Given the description of an element on the screen output the (x, y) to click on. 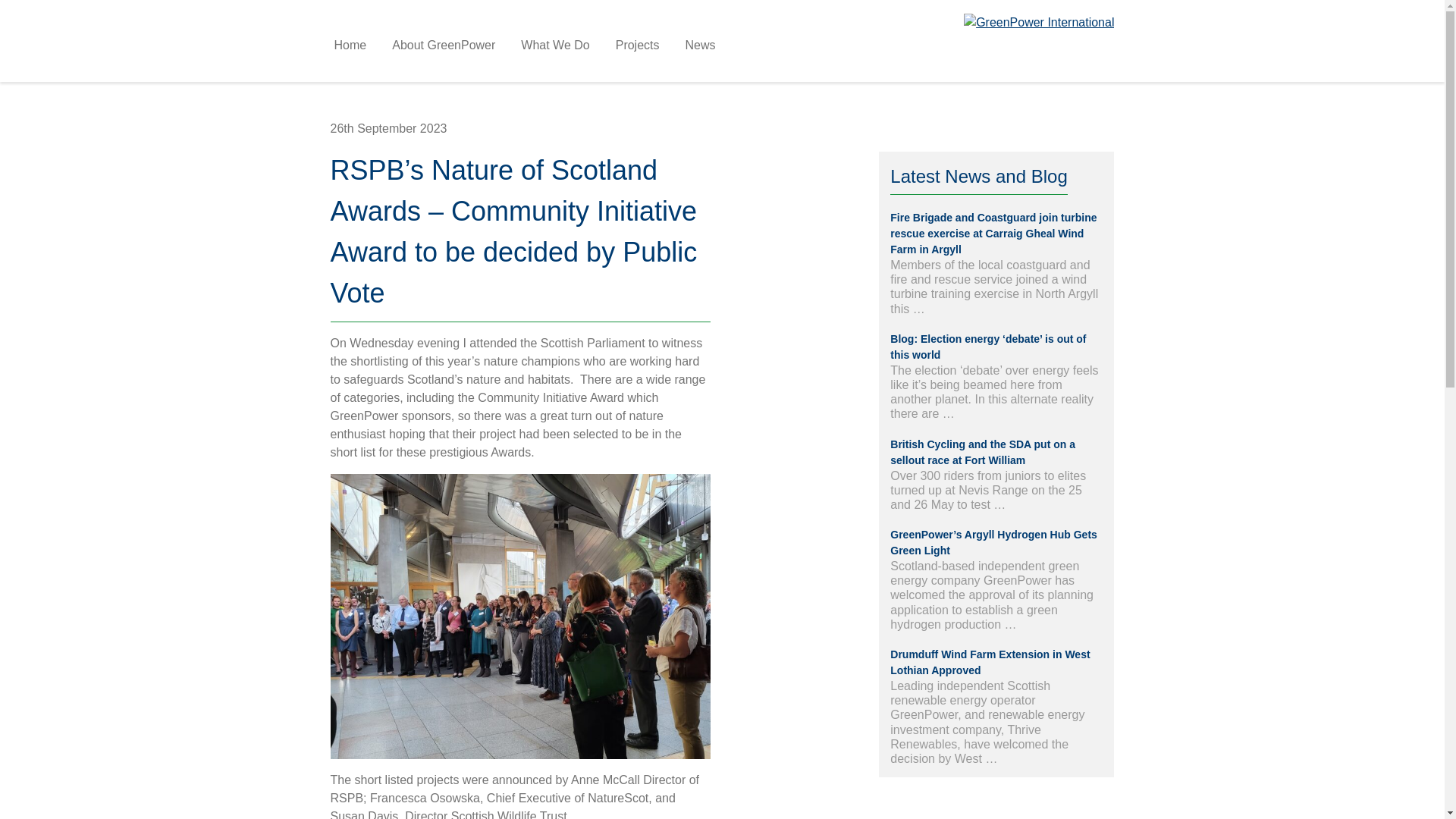
What We Do (554, 45)
Drumduff Wind Farm Extension in West Lothian Approved (989, 662)
Home (350, 45)
Projects (637, 45)
About GreenPower (443, 45)
News (700, 45)
